Given the description of an element on the screen output the (x, y) to click on. 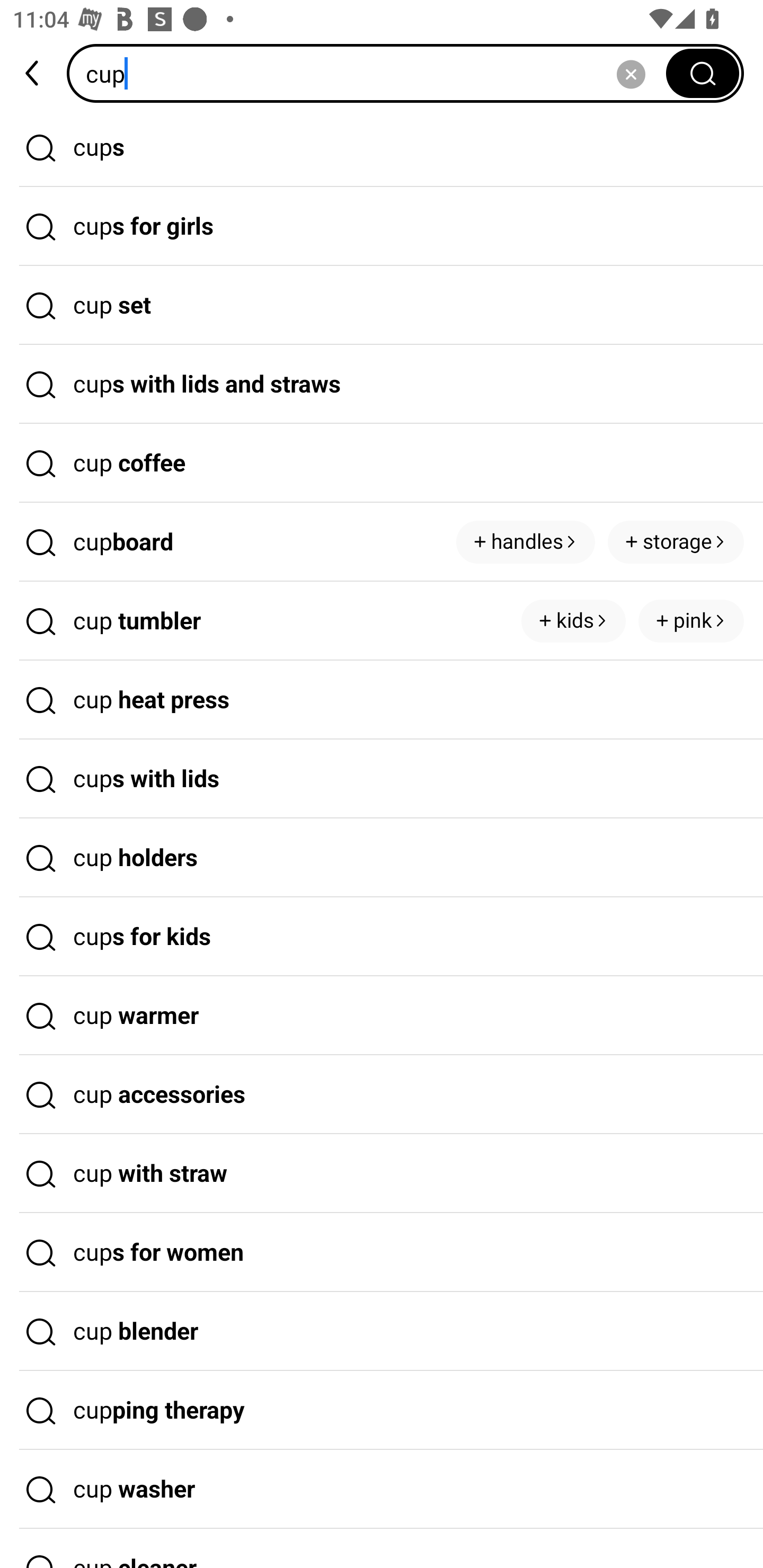
back (33, 72)
cup (372, 73)
Delete search history (630, 73)
cups (381, 147)
cups for girls (381, 226)
cup set (381, 305)
cups with lids and straws (381, 383)
cup coffee (381, 463)
cupboard handles storage (381, 542)
handles (525, 541)
storage (675, 541)
cup tumbler kids pink (381, 620)
kids (573, 620)
pink (690, 620)
cup heat press (381, 700)
cups with lids (381, 779)
cup holders (381, 857)
cups for kids (381, 936)
cup warmer (381, 1015)
cup accessories (381, 1094)
cup with straw (381, 1173)
cups for women (381, 1252)
cup blender (381, 1331)
cupping therapy (381, 1410)
cup washer (381, 1489)
